Given the description of an element on the screen output the (x, y) to click on. 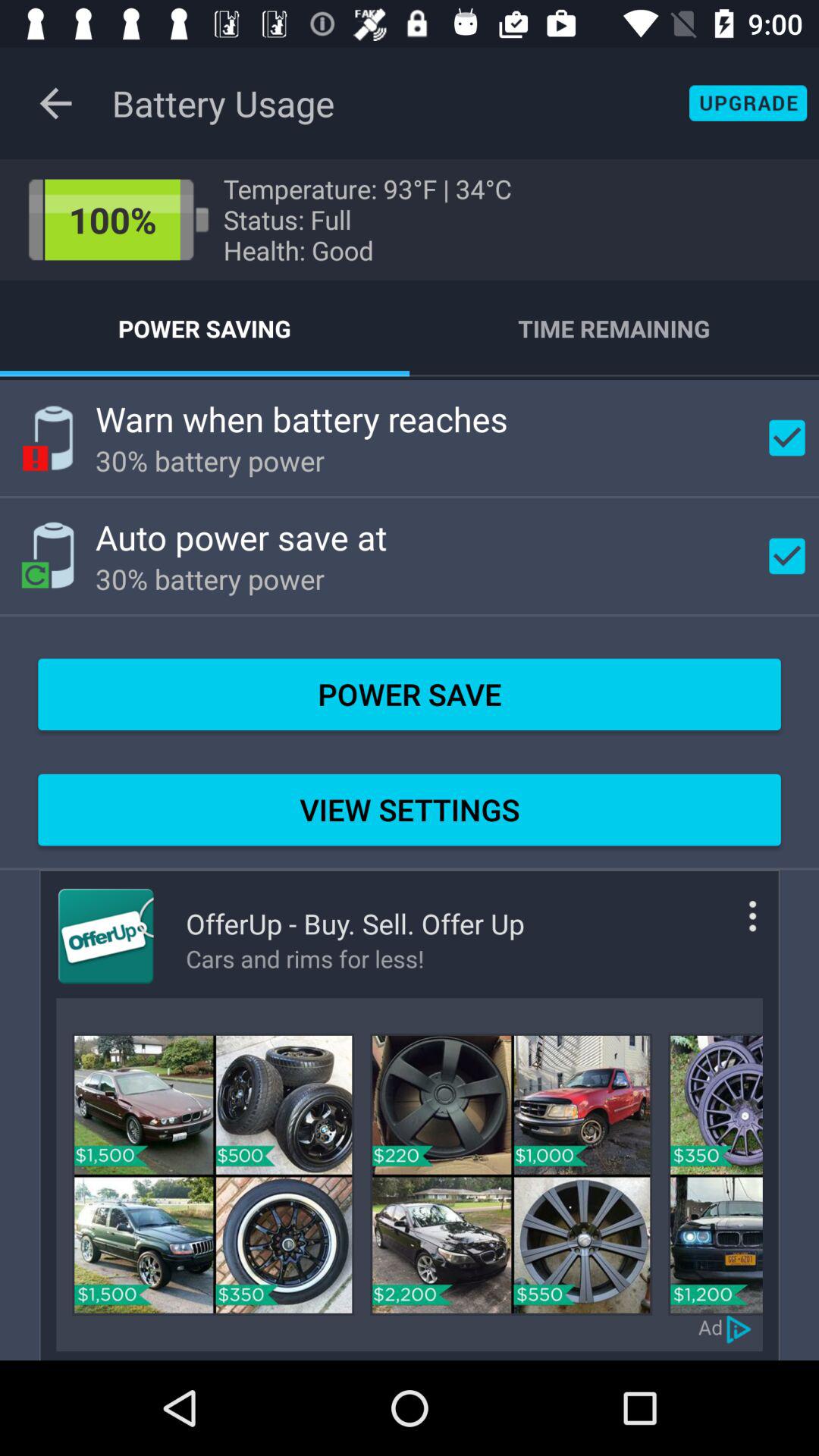
turn off the offerup buy sell item (354, 923)
